Given the description of an element on the screen output the (x, y) to click on. 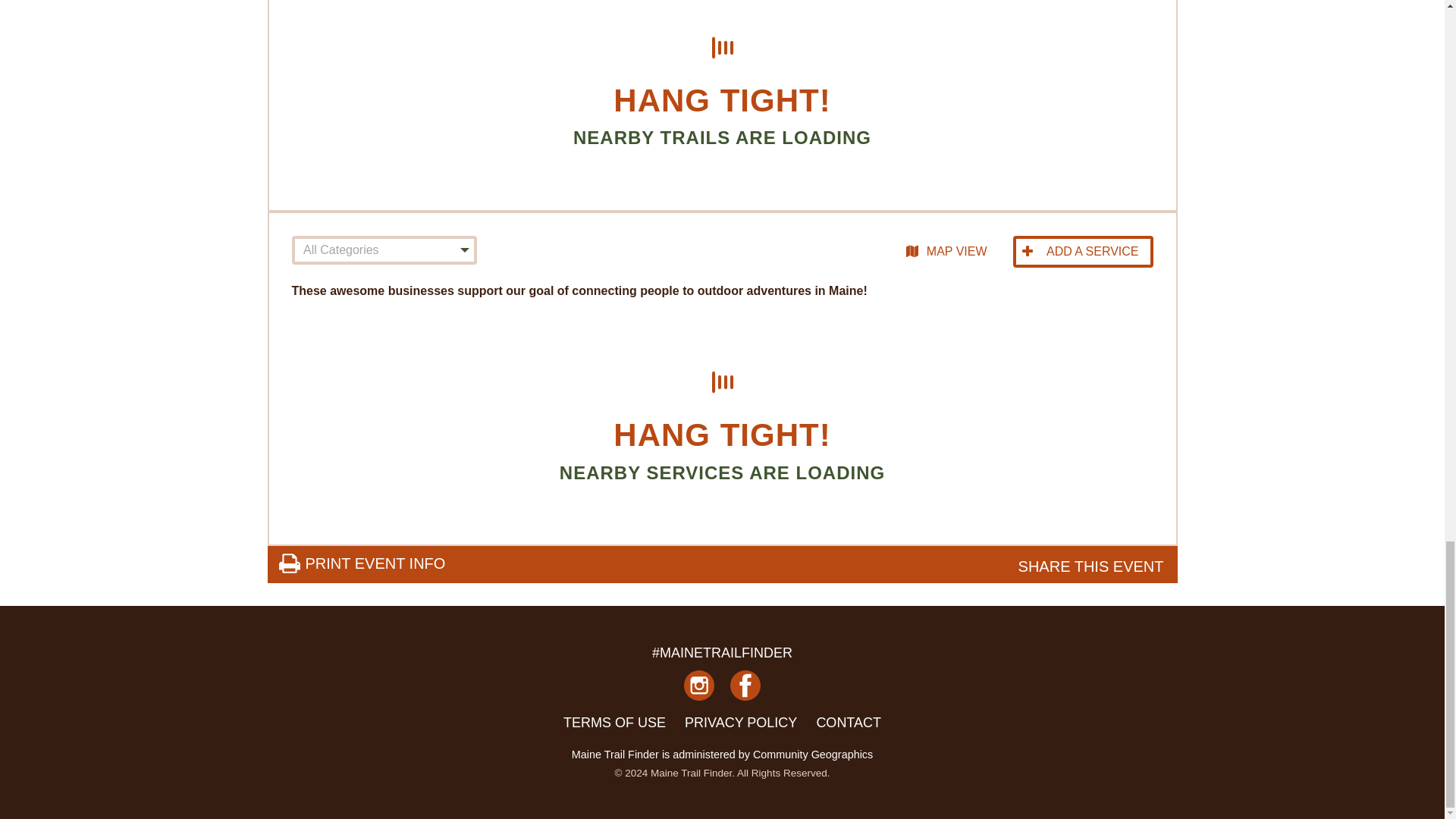
Follow us on Facebook (745, 690)
Follow us on Instagram (699, 690)
